Given the description of an element on the screen output the (x, y) to click on. 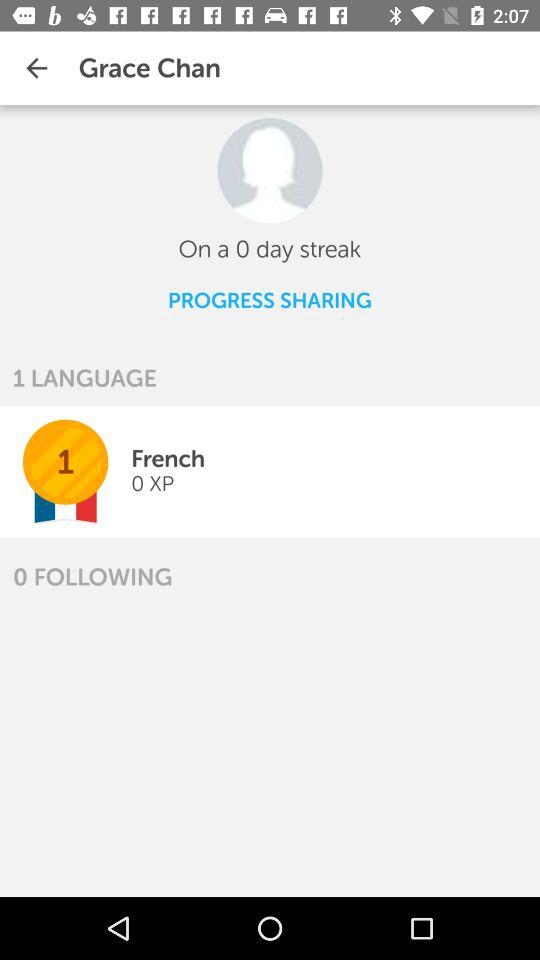
turn off icon below the 1 icon (92, 576)
